Given the description of an element on the screen output the (x, y) to click on. 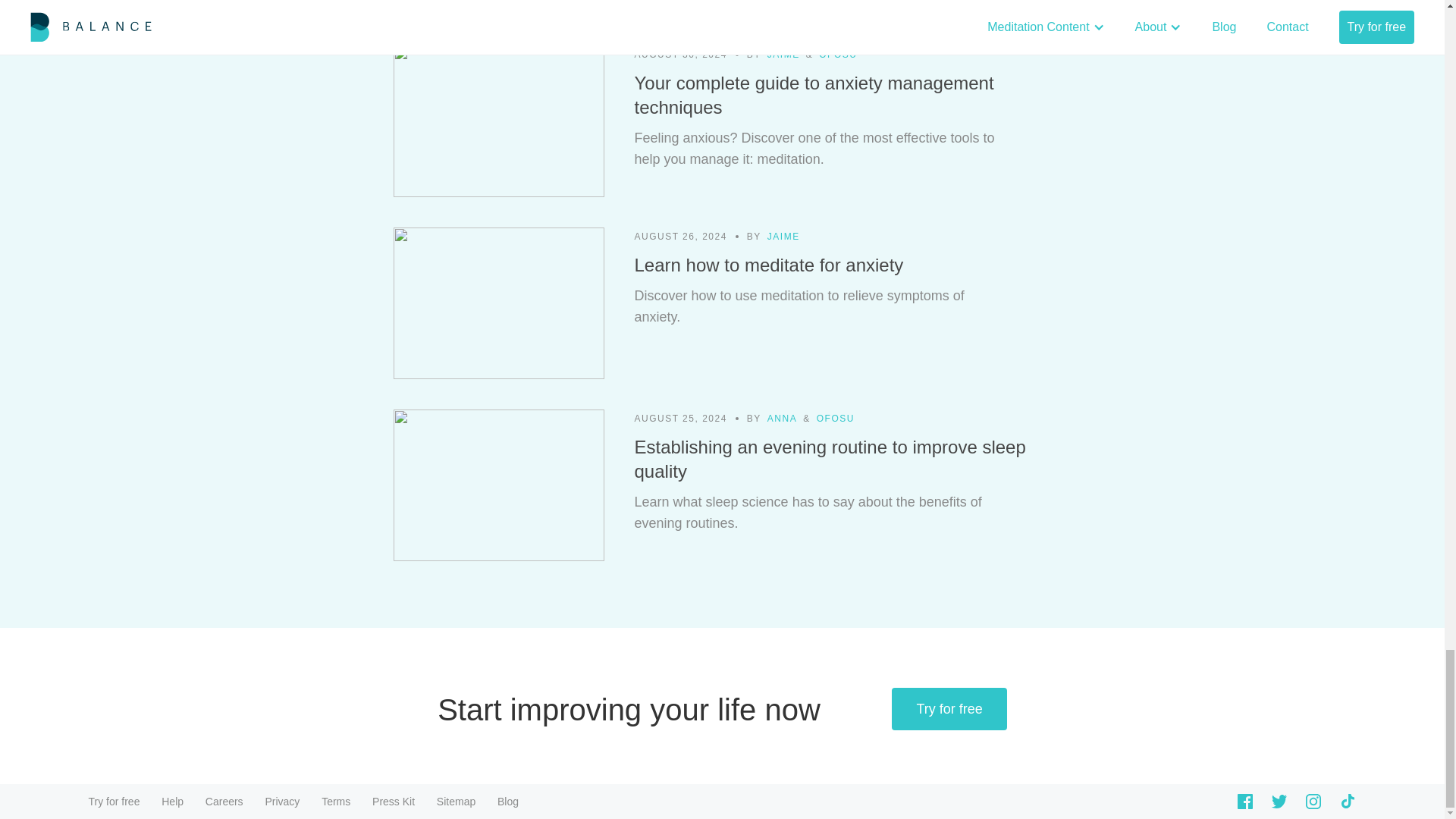
JAIME (783, 54)
OFOSU (837, 54)
